Given the description of an element on the screen output the (x, y) to click on. 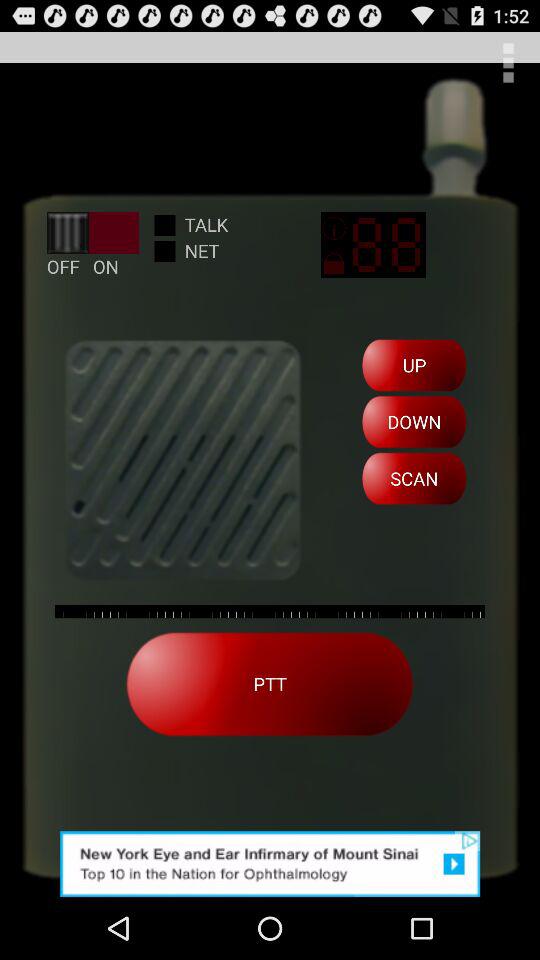
add of the option (270, 864)
